Given the description of an element on the screen output the (x, y) to click on. 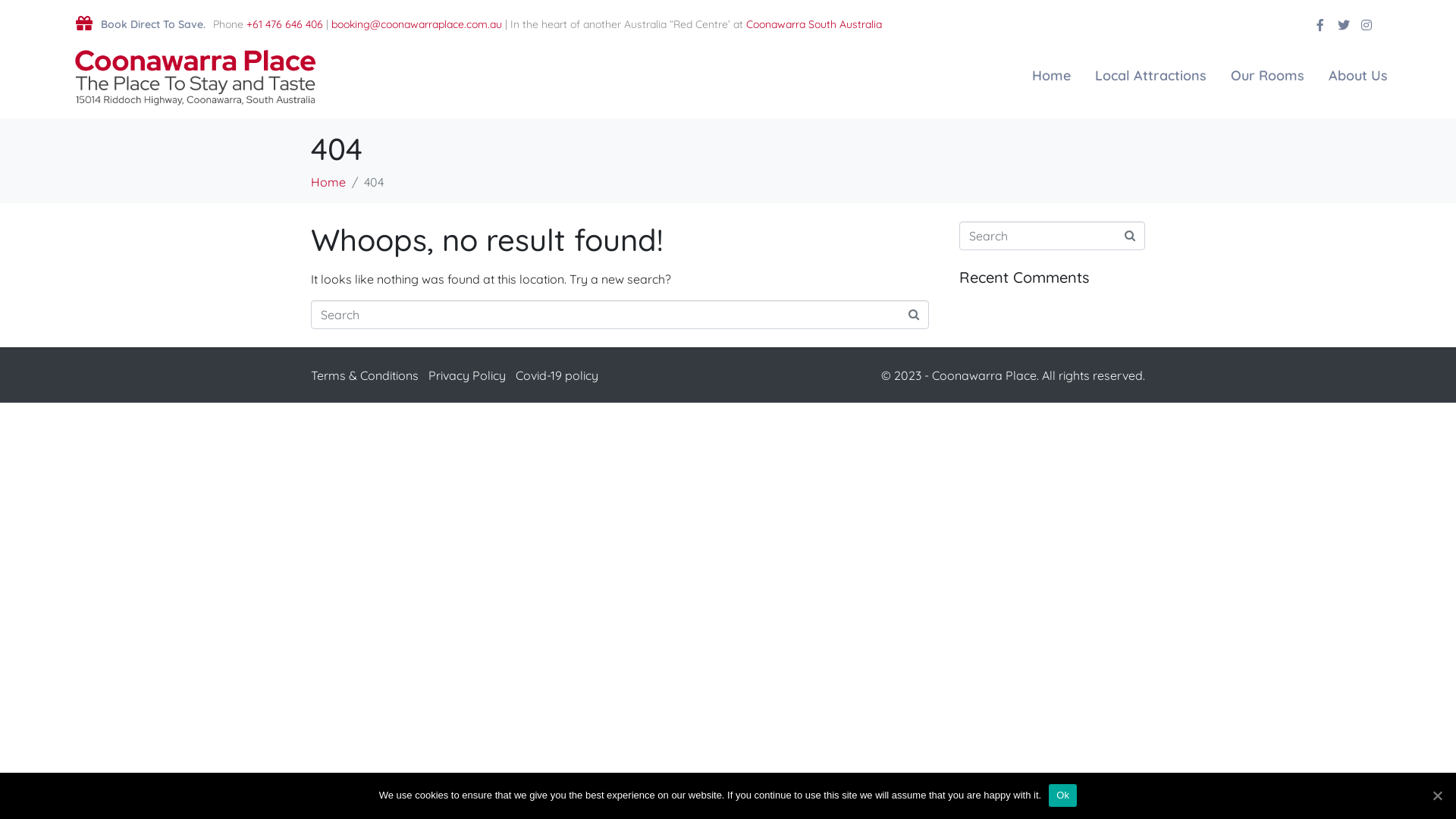
Ok Element type: text (1062, 795)
booking@coonawarraplace.com.au Element type: text (415, 24)
Home Element type: text (327, 181)
Home Element type: text (1051, 75)
About Us Element type: text (1357, 75)
Terms & Conditions Element type: text (364, 374)
+61 476 646 406 Element type: text (283, 24)
Privacy Policy Element type: text (466, 374)
Coonawarra South Australia Element type: text (813, 24)
Our Rooms Element type: text (1267, 75)
Covid-19 policy Element type: text (556, 374)
Local Attractions Element type: text (1150, 75)
